Given the description of an element on the screen output the (x, y) to click on. 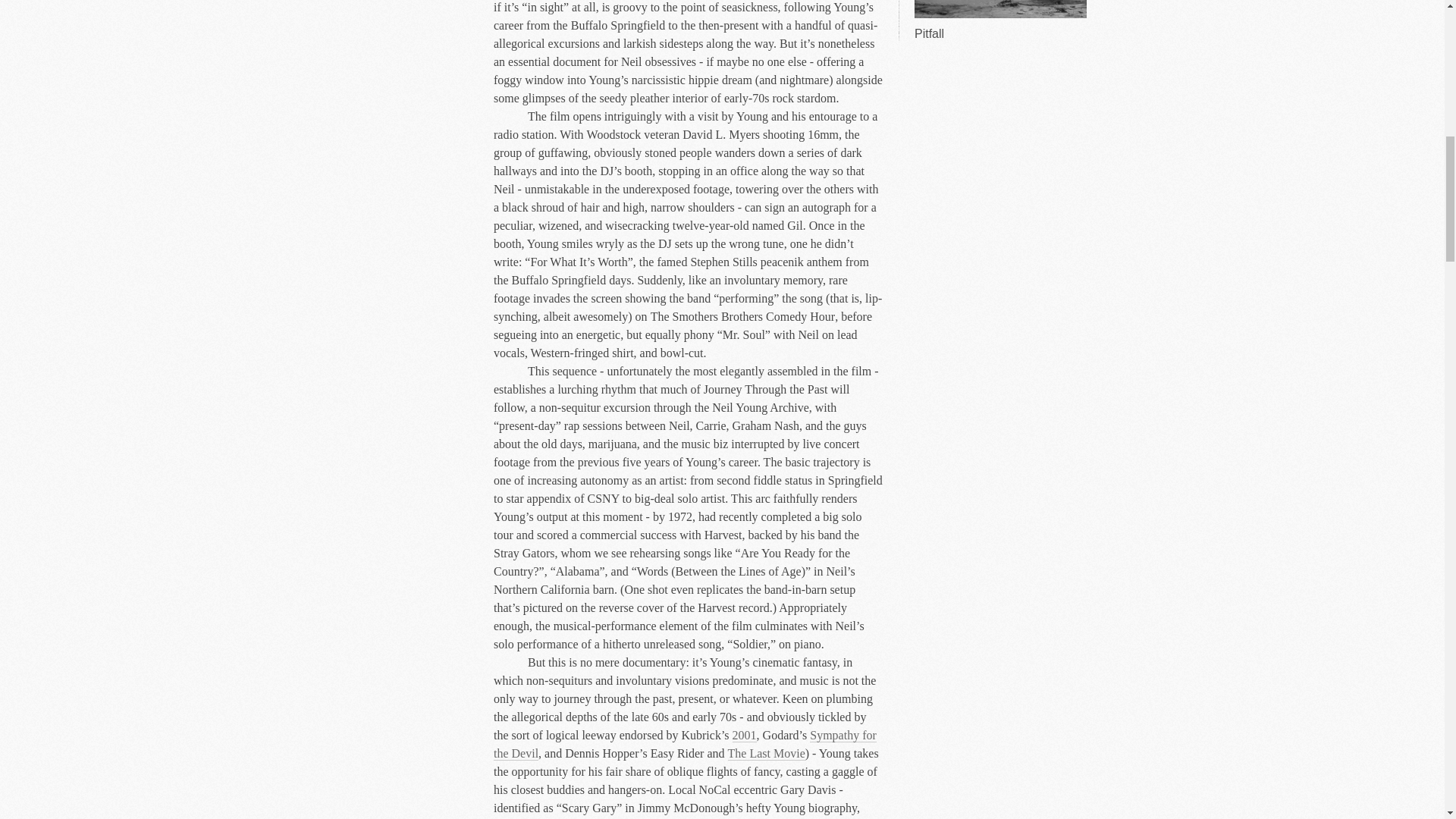
2001 (744, 735)
Sympathy for the Devil (684, 744)
Pitfall (1000, 20)
The Last Movie (766, 753)
